Given the description of an element on the screen output the (x, y) to click on. 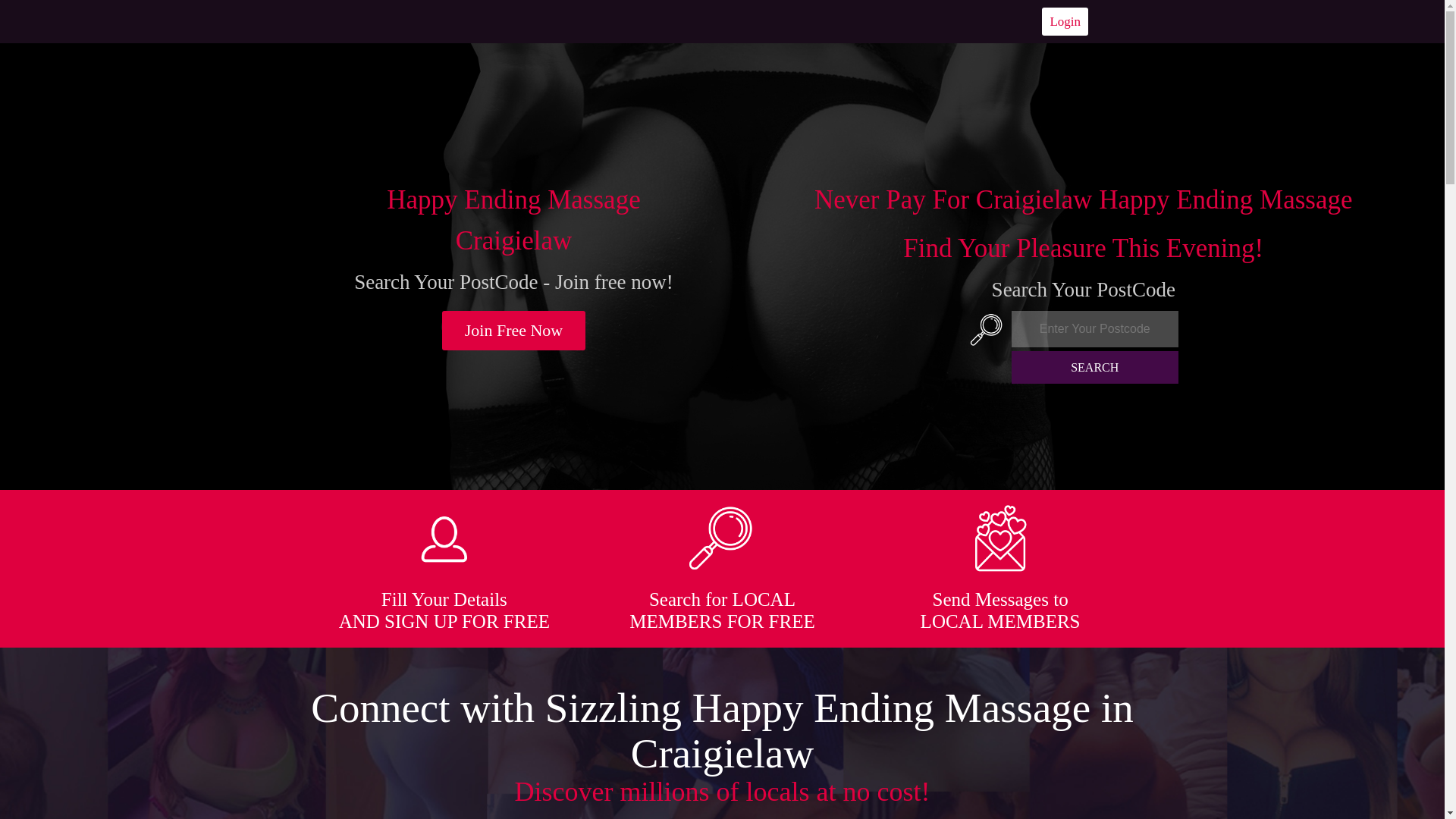
SEARCH (1094, 367)
Join (514, 330)
Login (1064, 21)
Join Free Now (514, 330)
Login (1064, 21)
